Given the description of an element on the screen output the (x, y) to click on. 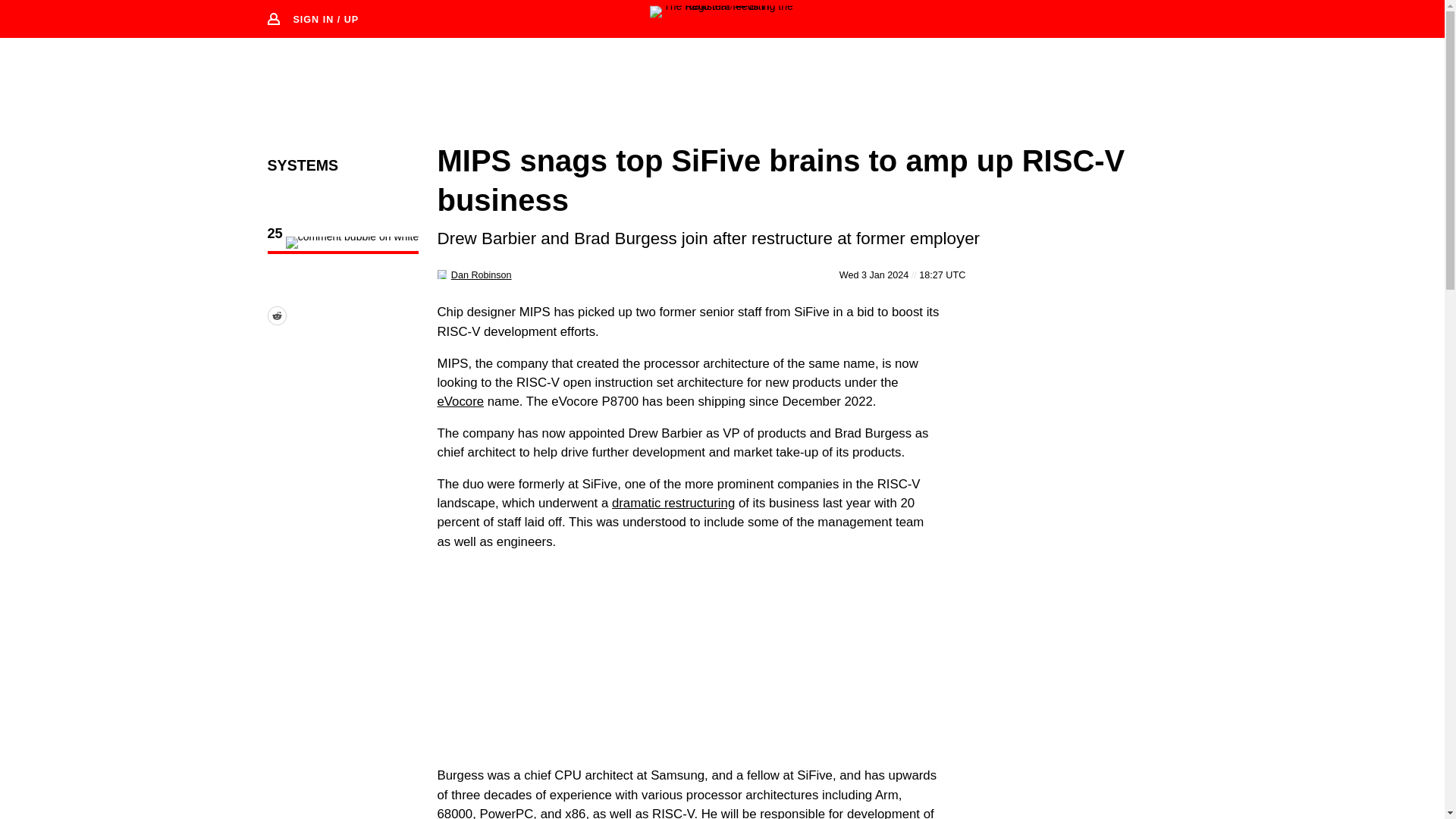
View comments on this article (342, 243)
Read more by this author (481, 274)
